Given the description of an element on the screen output the (x, y) to click on. 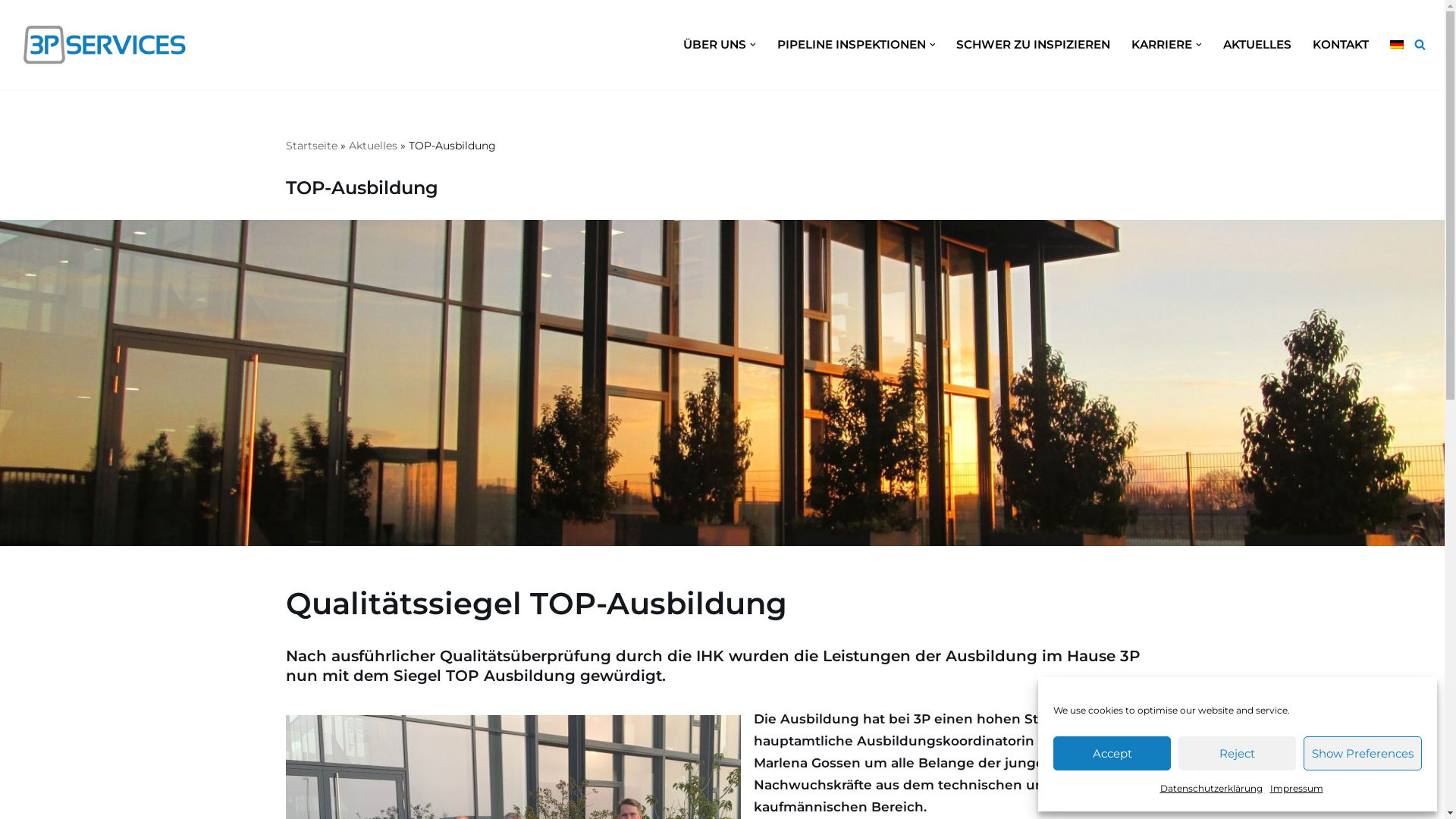
KONTAKT Element type: text (1340, 43)
PIPELINE INSPEKTIONEN Element type: text (851, 43)
Show Preferences Element type: text (1362, 753)
Reject Element type: text (1236, 753)
SCHWER ZU INSPIZIEREN Element type: text (1033, 43)
Zum Inhalt springen Element type: text (11, 31)
Accept Element type: text (1111, 753)
KARRIERE Element type: text (1161, 43)
AKTUELLES Element type: text (1257, 43)
Impressum Element type: text (1295, 789)
Aktuelles Element type: text (372, 145)
Startseite Element type: text (310, 145)
